Given the description of an element on the screen output the (x, y) to click on. 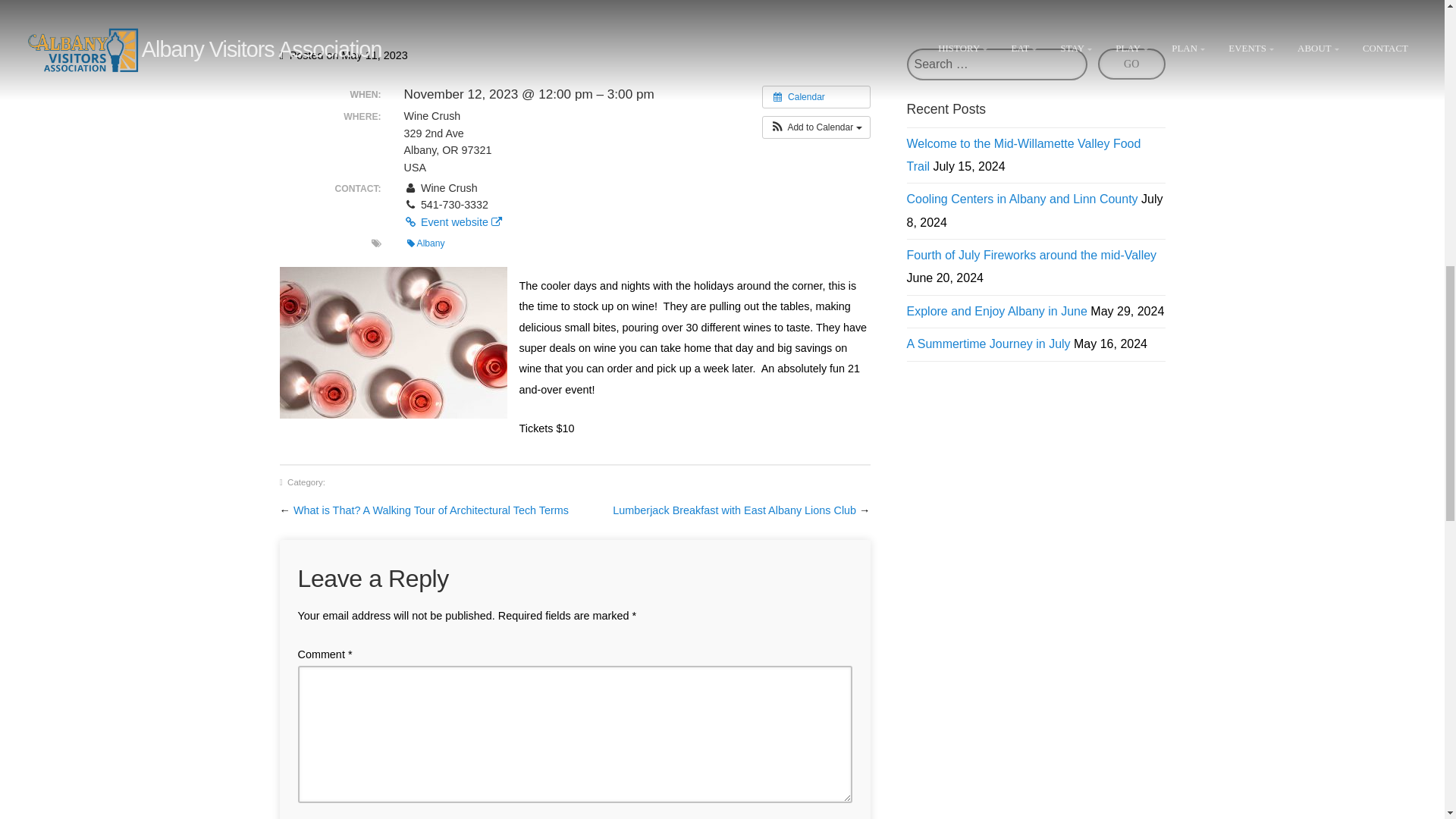
Go (1131, 63)
Tags (376, 243)
View all events (815, 96)
